Given the description of an element on the screen output the (x, y) to click on. 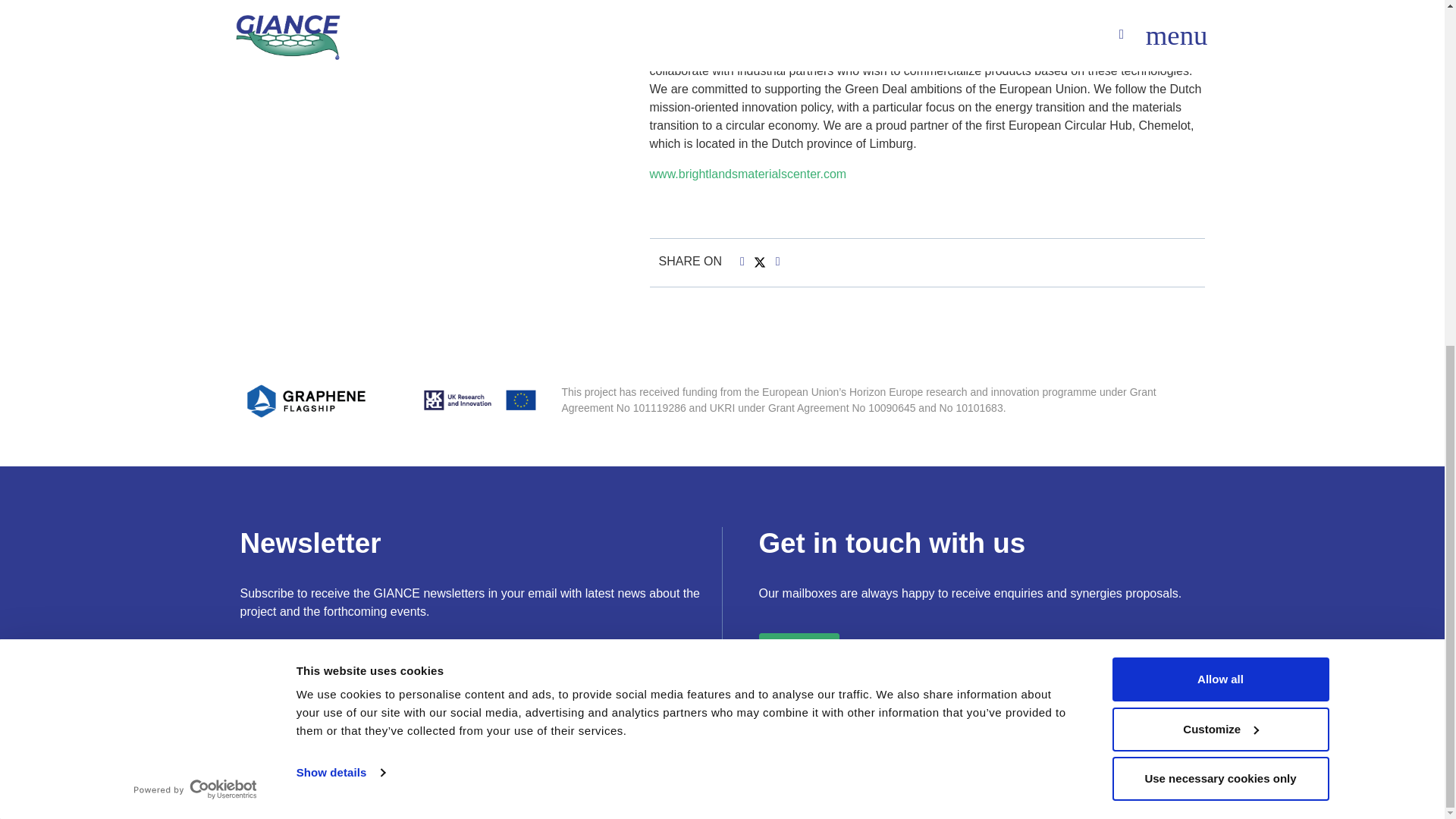
Customize (1219, 135)
Use necessary cookies only (1219, 184)
Allow all (1219, 85)
Show details (340, 178)
